Given the description of an element on the screen output the (x, y) to click on. 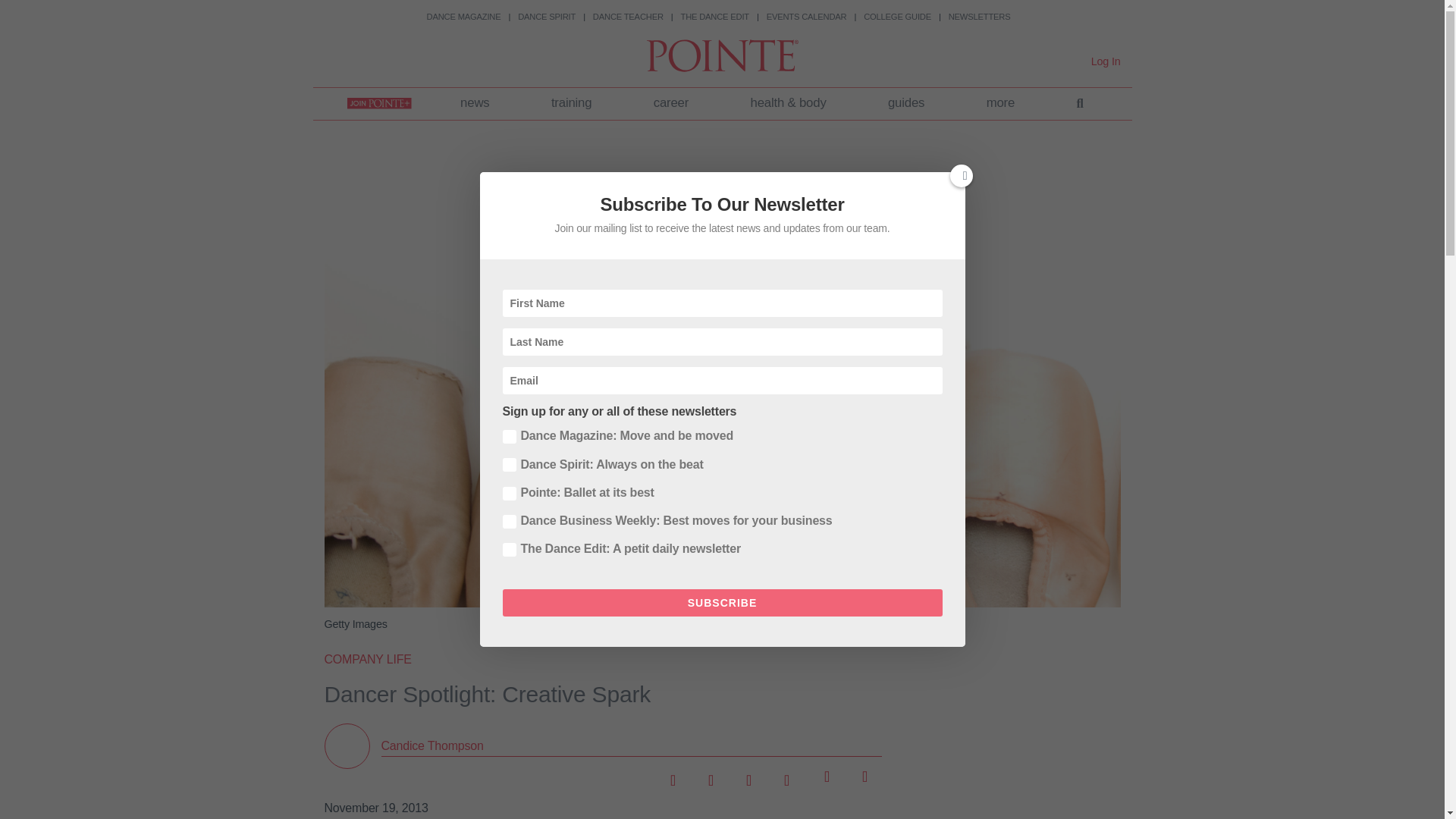
Print article (861, 775)
Share on Pinterest (786, 775)
Log In (1105, 61)
career (670, 103)
DANCE SPIRIT (546, 16)
DANCE MAGAZINE (463, 16)
DANCE TEACHER (627, 16)
EVENTS CALENDAR (807, 16)
Share on Facebook (672, 775)
THE DANCE EDIT (715, 16)
Members Login (1105, 61)
Share on Twitter (710, 775)
training (571, 103)
NEWSLETTERS (979, 16)
news (474, 103)
